Given the description of an element on the screen output the (x, y) to click on. 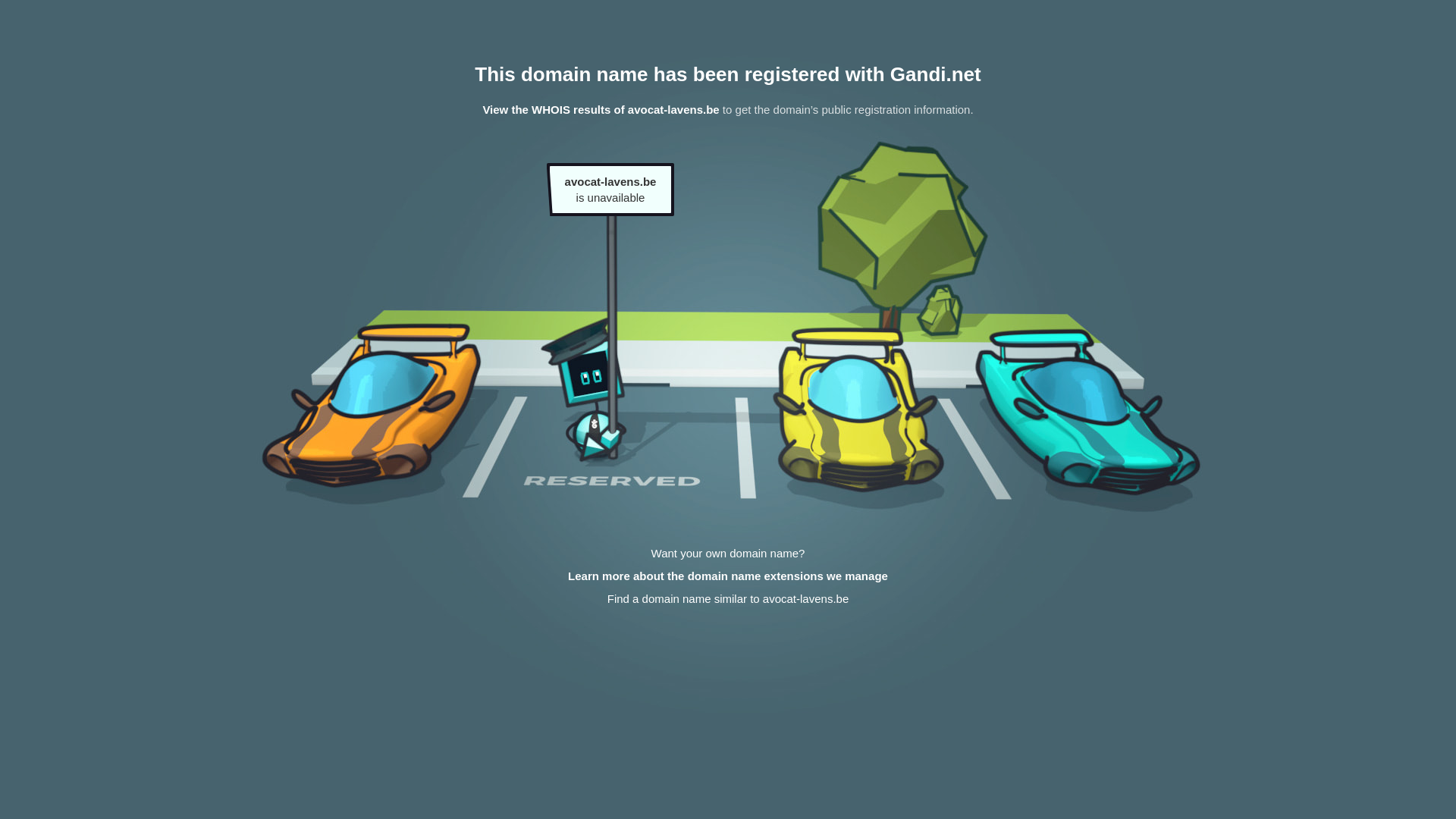
Learn more about the domain name extensions we manage Element type: text (727, 575)
Find a domain name similar to avocat-lavens.be Element type: text (728, 598)
View the WHOIS results of avocat-lavens.be Element type: text (600, 109)
